Given the description of an element on the screen output the (x, y) to click on. 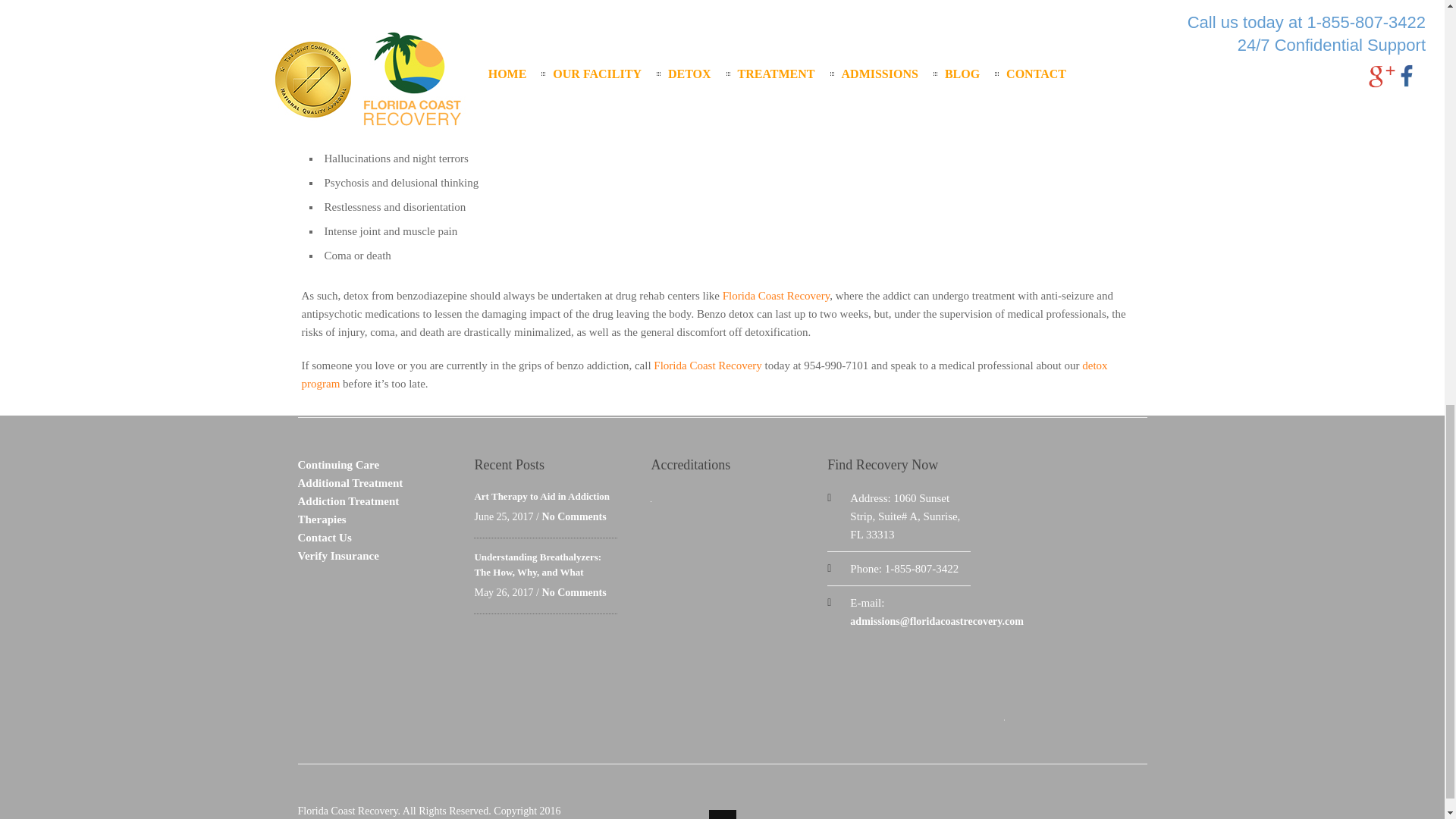
Art Therapy to Aid in Addiction (542, 496)
No Comments (574, 516)
Verify Insurance (337, 555)
Continuing Care (337, 464)
Florida Coast Recovery (707, 365)
Additional Treatment (350, 482)
Understanding Breathalyzers: The How, Why, and What (537, 564)
detox program (704, 374)
Florida Coast Recovery (775, 295)
Contact Us (323, 537)
